Given the description of an element on the screen output the (x, y) to click on. 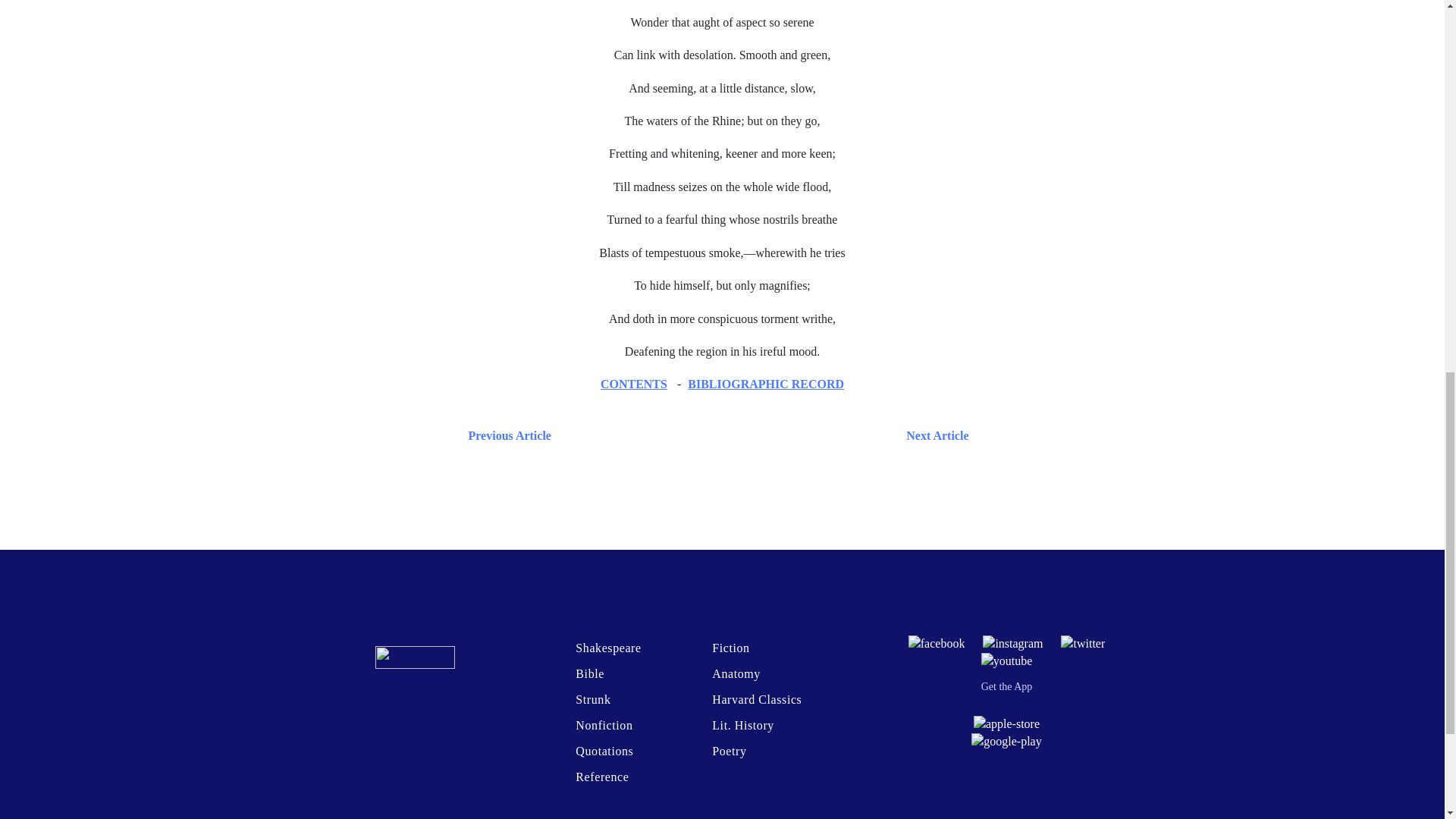
Strunk (592, 698)
Anatomy (735, 673)
BIBLIOGRAPHIC RECORD (765, 383)
Quotations (604, 750)
Shakespeare (607, 647)
Previous Article (506, 435)
Nonfiction (603, 725)
Bible (589, 673)
Poetry (728, 750)
CONTENTS (632, 383)
